Given the description of an element on the screen output the (x, y) to click on. 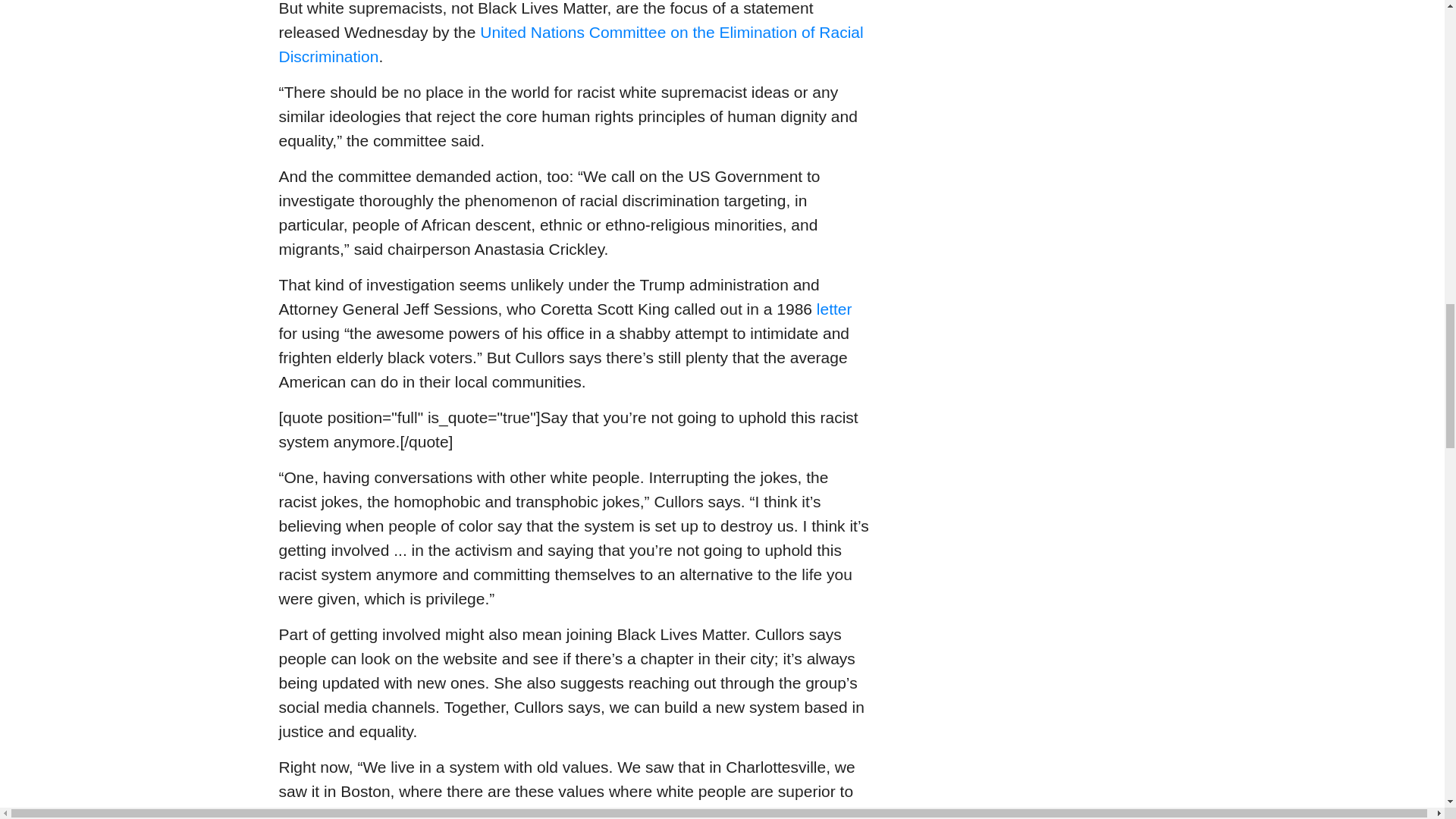
letter (833, 308)
